Given the description of an element on the screen output the (x, y) to click on. 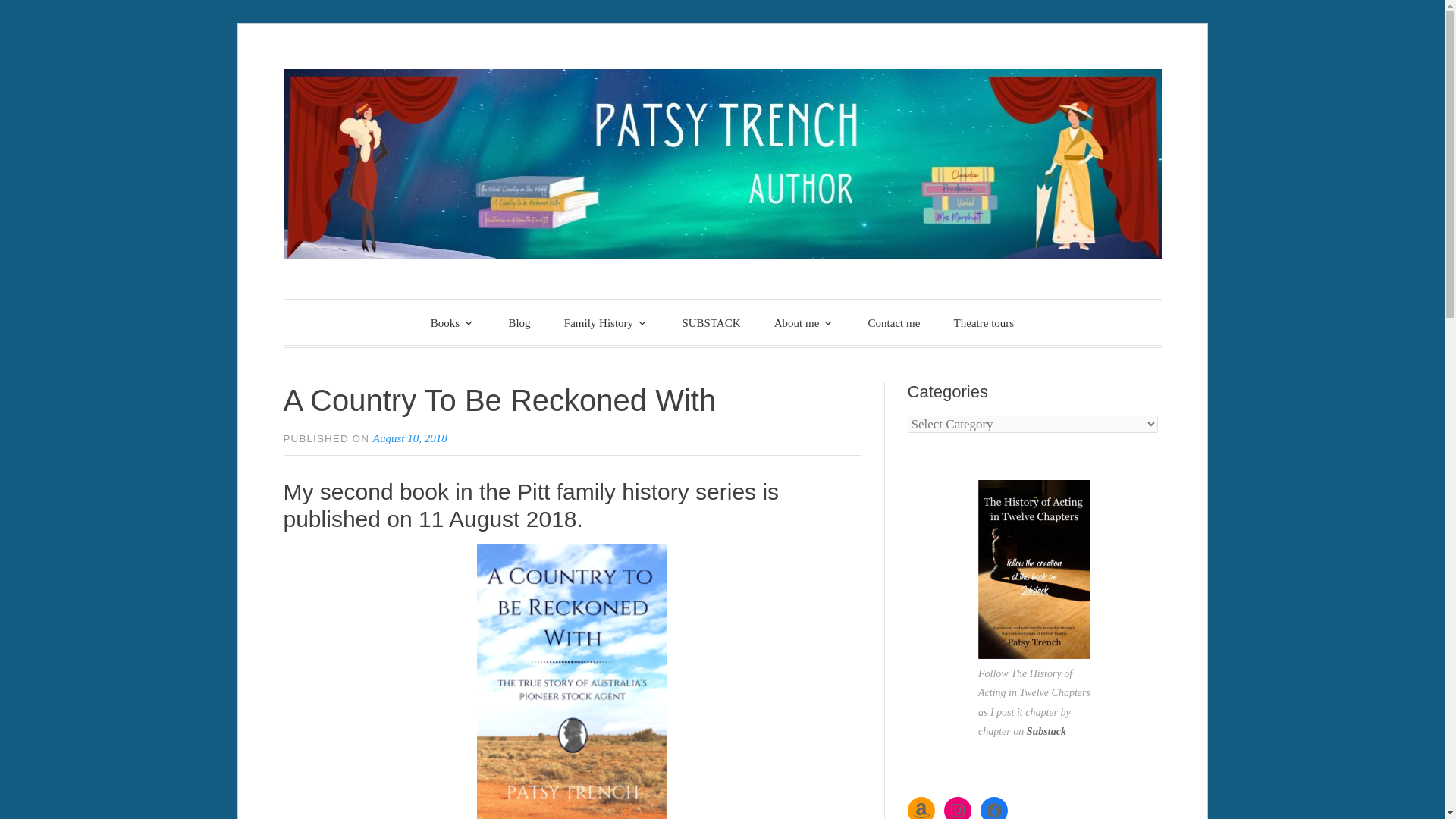
SUBSTACK (710, 323)
Home (451, 322)
Contact me (894, 323)
Family History (605, 322)
Books (451, 322)
August 10, 2018 (409, 438)
Theatre tours (984, 323)
Patsy Trench Author (538, 320)
Blog (518, 323)
About me (804, 322)
